Given the description of an element on the screen output the (x, y) to click on. 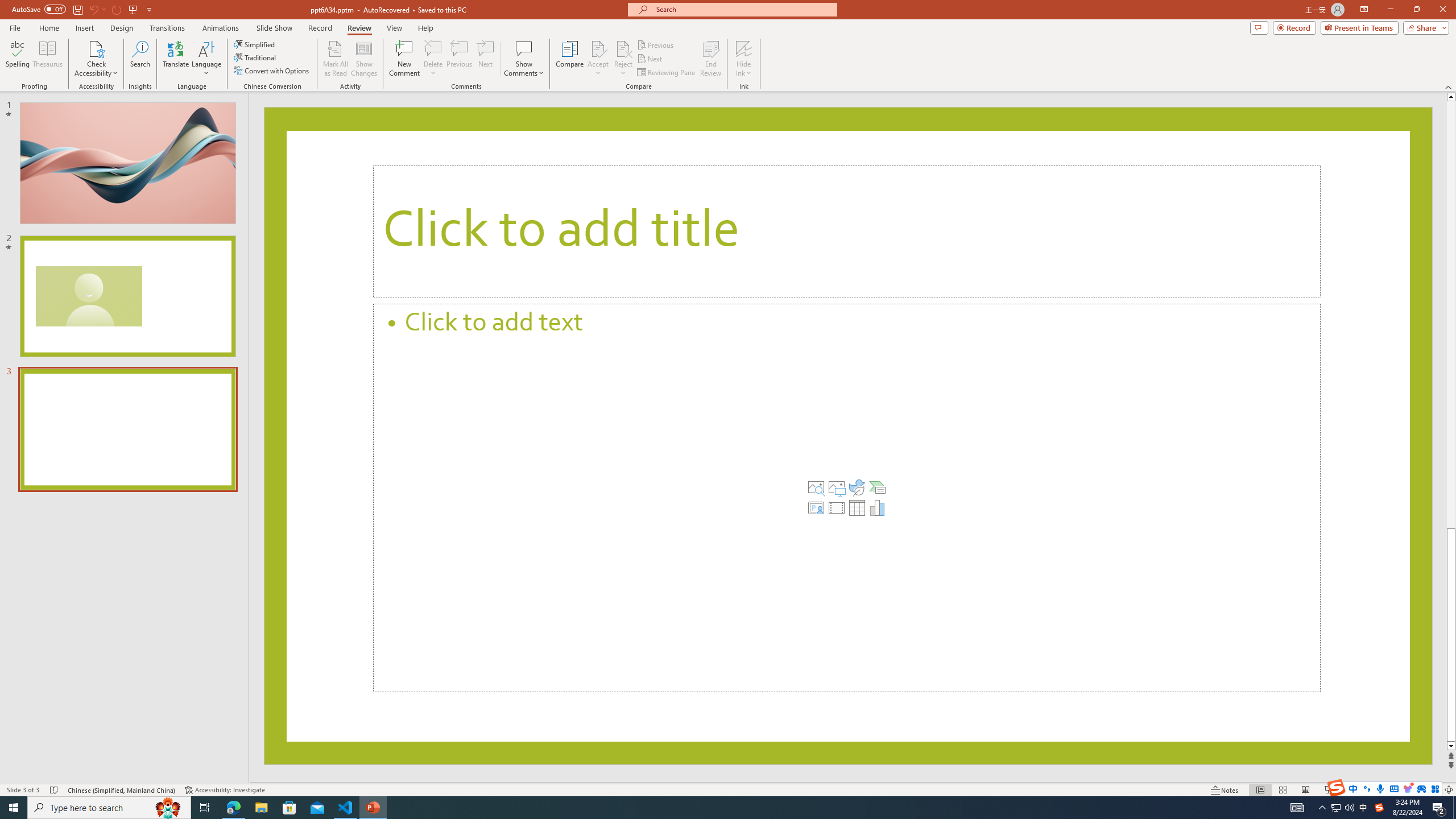
Reject Change (622, 48)
Hide Ink (743, 58)
Accept Change (598, 48)
New Comment (403, 58)
